Given the description of an element on the screen output the (x, y) to click on. 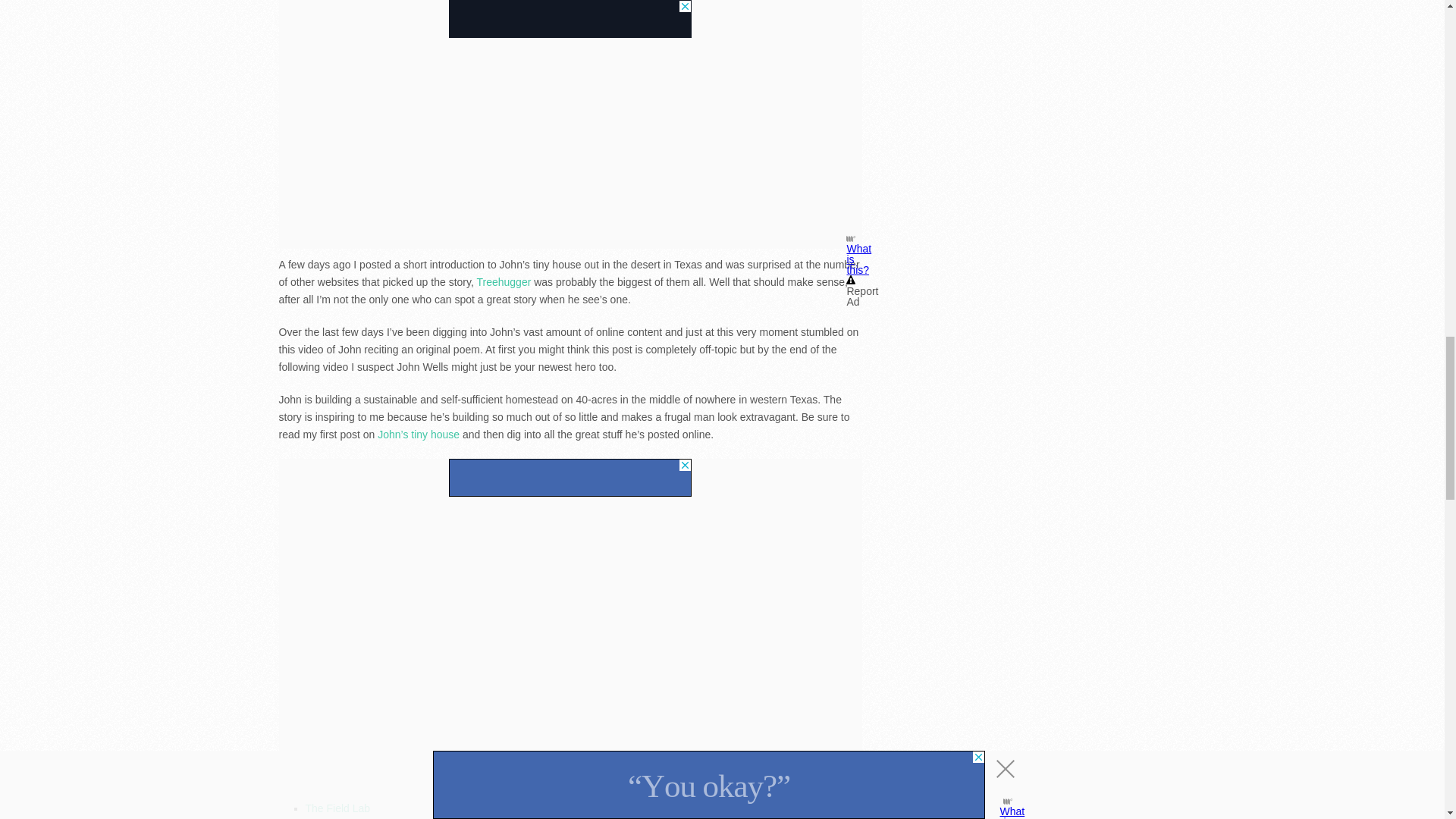
The Field Lab (336, 808)
Treehugger (503, 282)
3rd party ad content (569, 477)
